Given the description of an element on the screen output the (x, y) to click on. 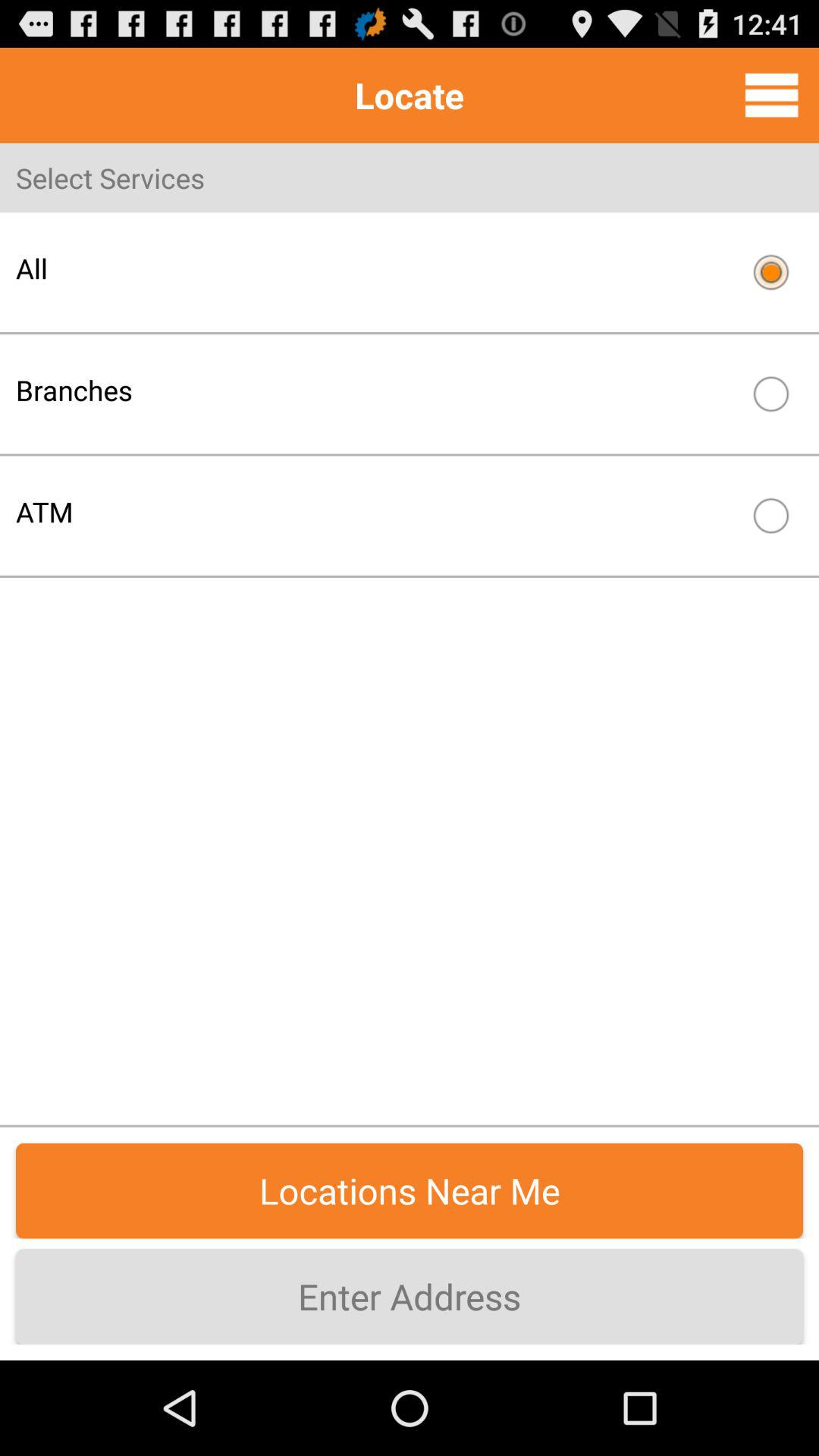
turn on the locations near me (409, 1190)
